Given the description of an element on the screen output the (x, y) to click on. 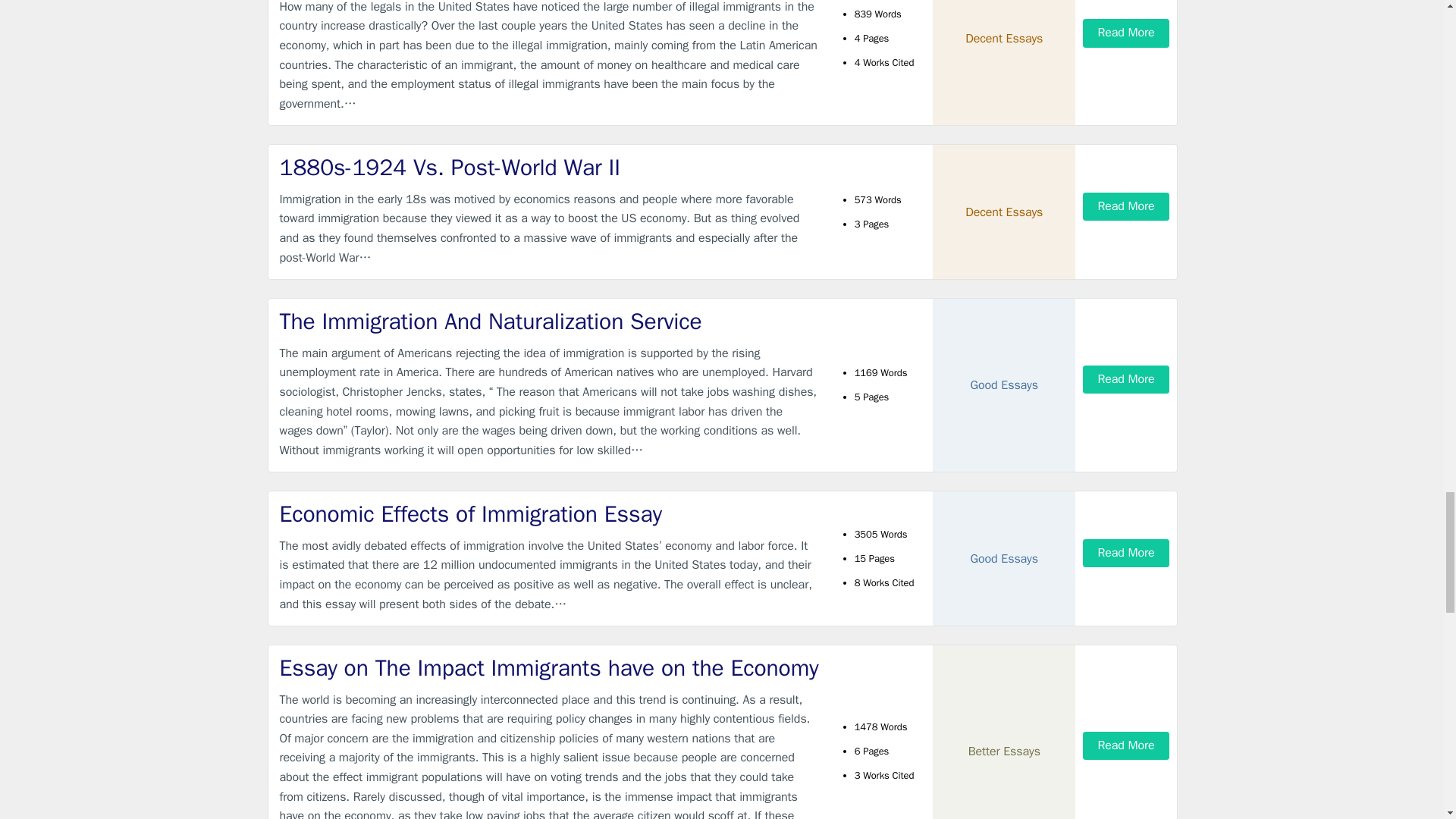
Read More (1126, 32)
